Given the description of an element on the screen output the (x, y) to click on. 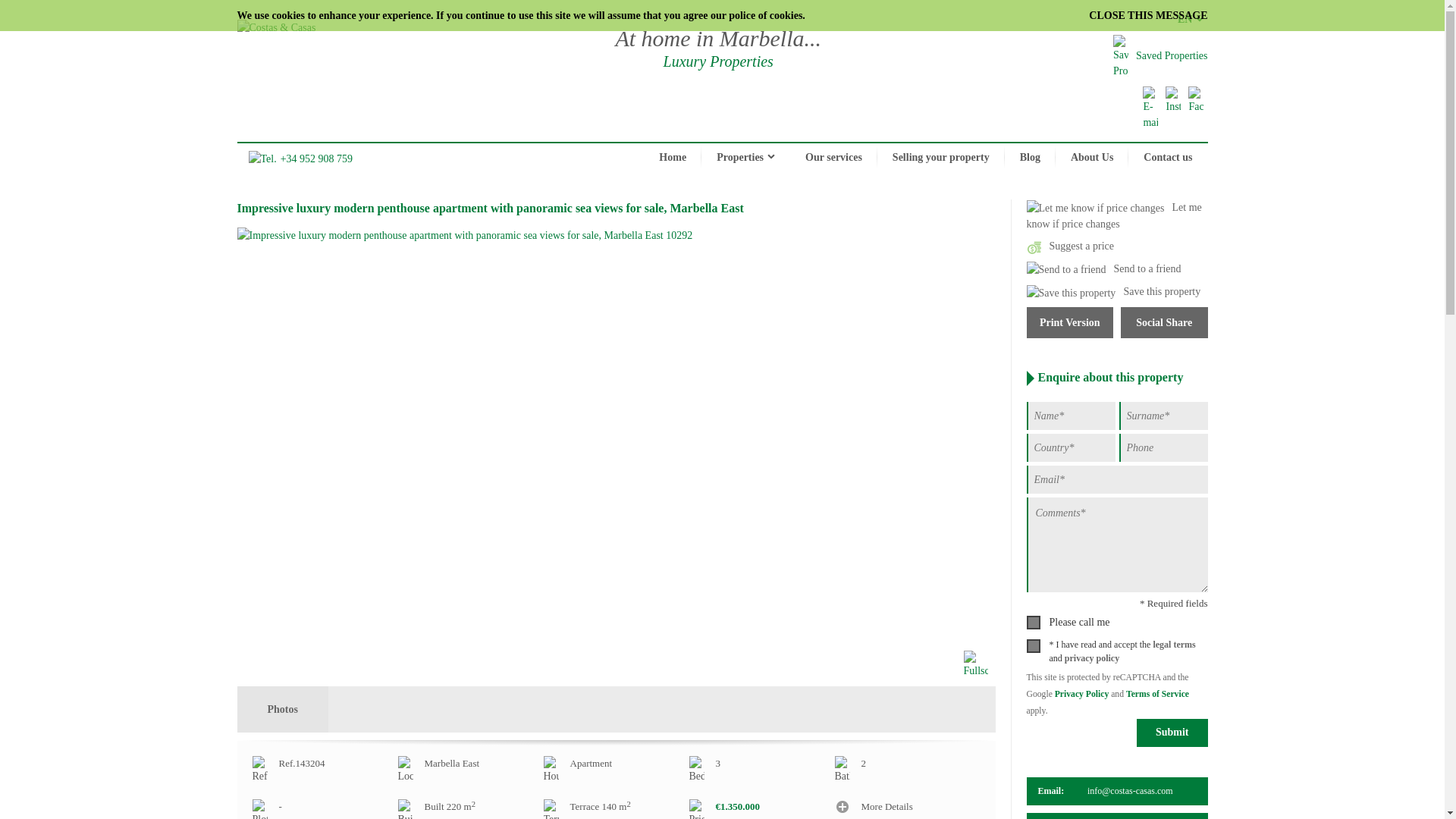
Print Version (1069, 322)
Let me know if price changes (1114, 215)
Contact us (1167, 157)
Social Share (1164, 322)
Send to a friend (1103, 268)
Blog (1029, 157)
About Us (1091, 157)
Suggest a price (1070, 245)
Save this property (1113, 291)
Home (672, 157)
Our services (833, 157)
Submit (1172, 732)
Selling your property (940, 157)
